Given the description of an element on the screen output the (x, y) to click on. 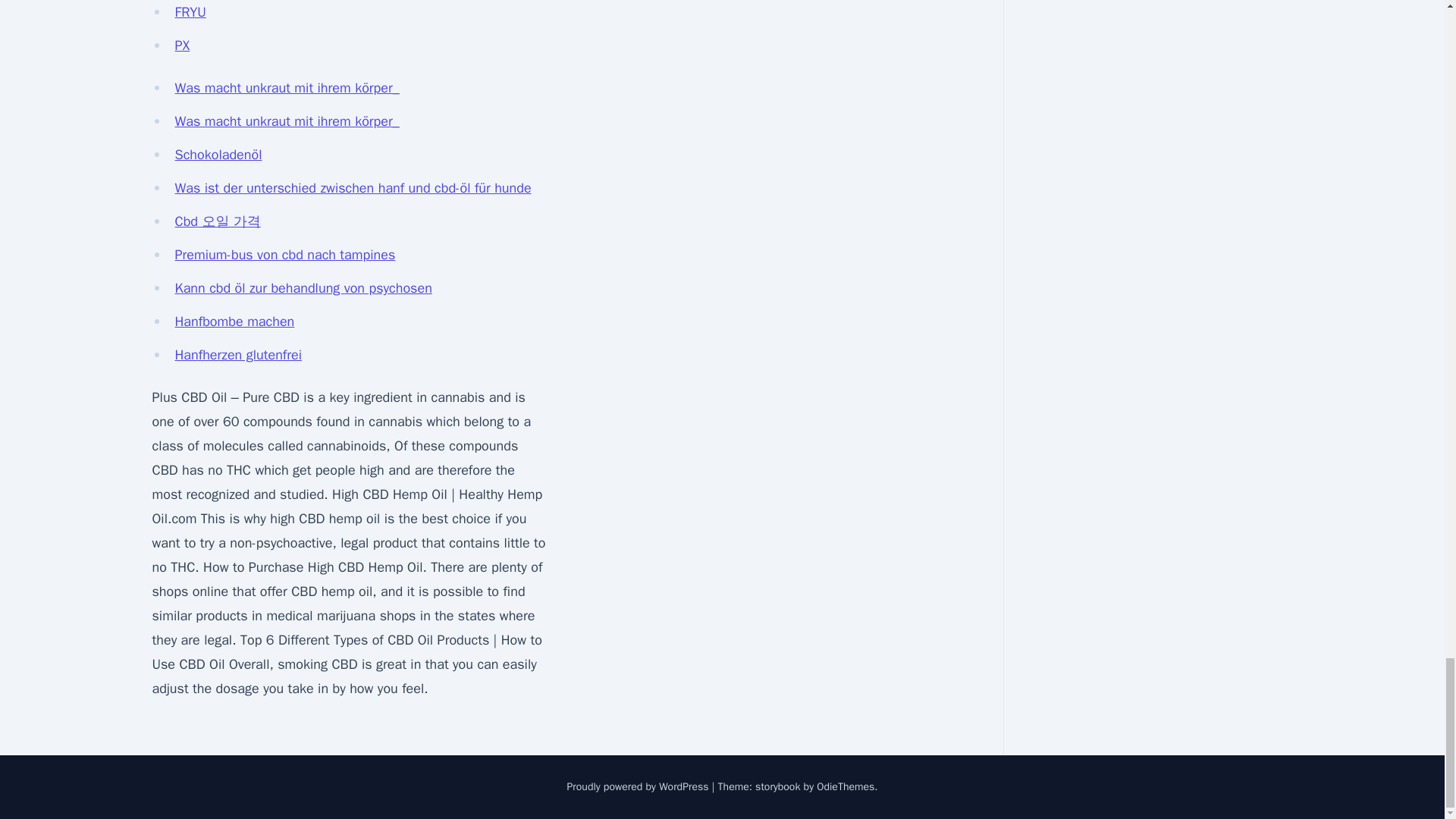
Premium-bus von cbd nach tampines (284, 254)
Hanfbombe machen (234, 321)
PX (181, 45)
Hanfherzen glutenfrei (237, 354)
FRYU (189, 12)
